Given the description of an element on the screen output the (x, y) to click on. 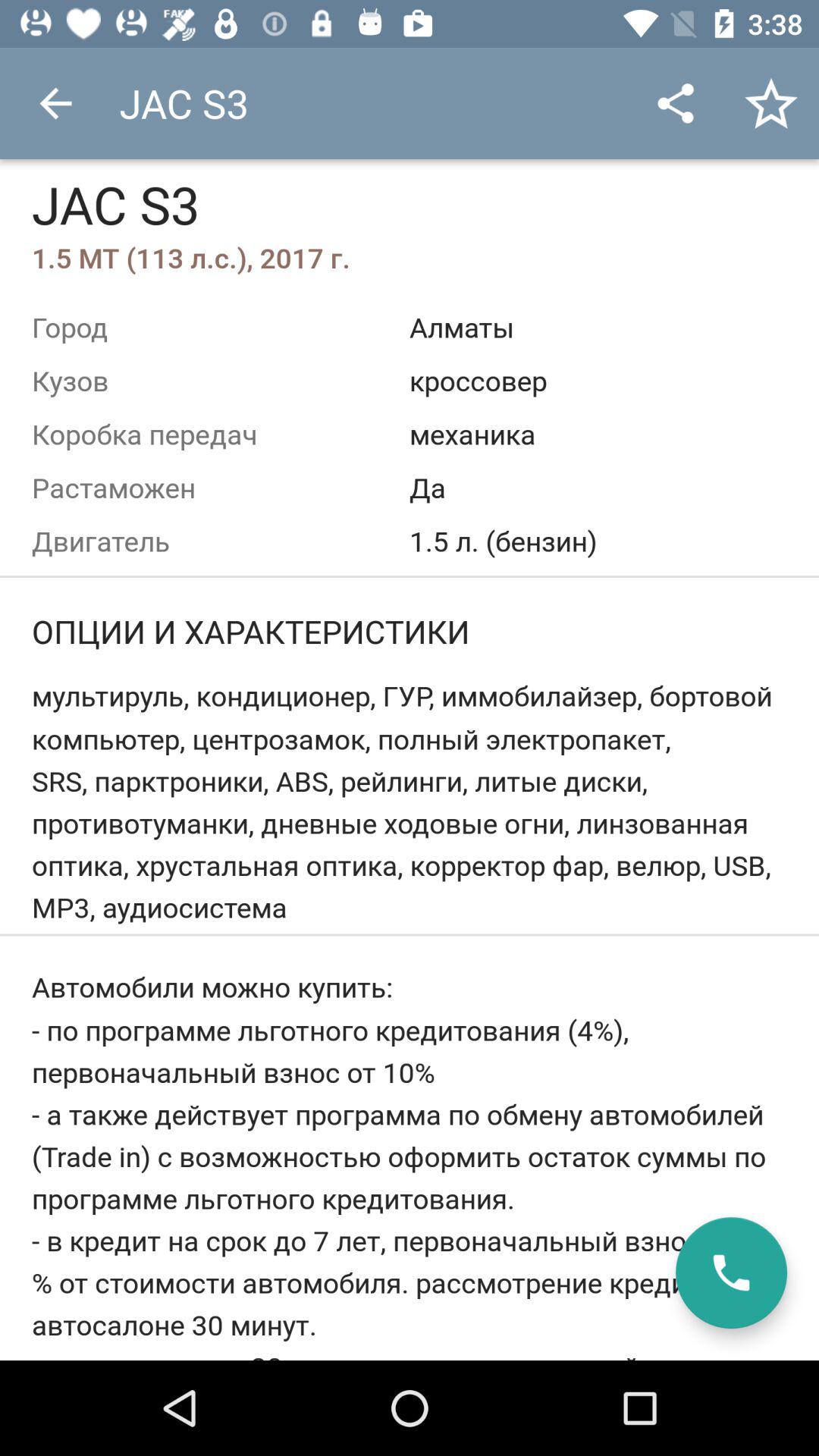
press app to the right of jac s3 icon (675, 103)
